Given the description of an element on the screen output the (x, y) to click on. 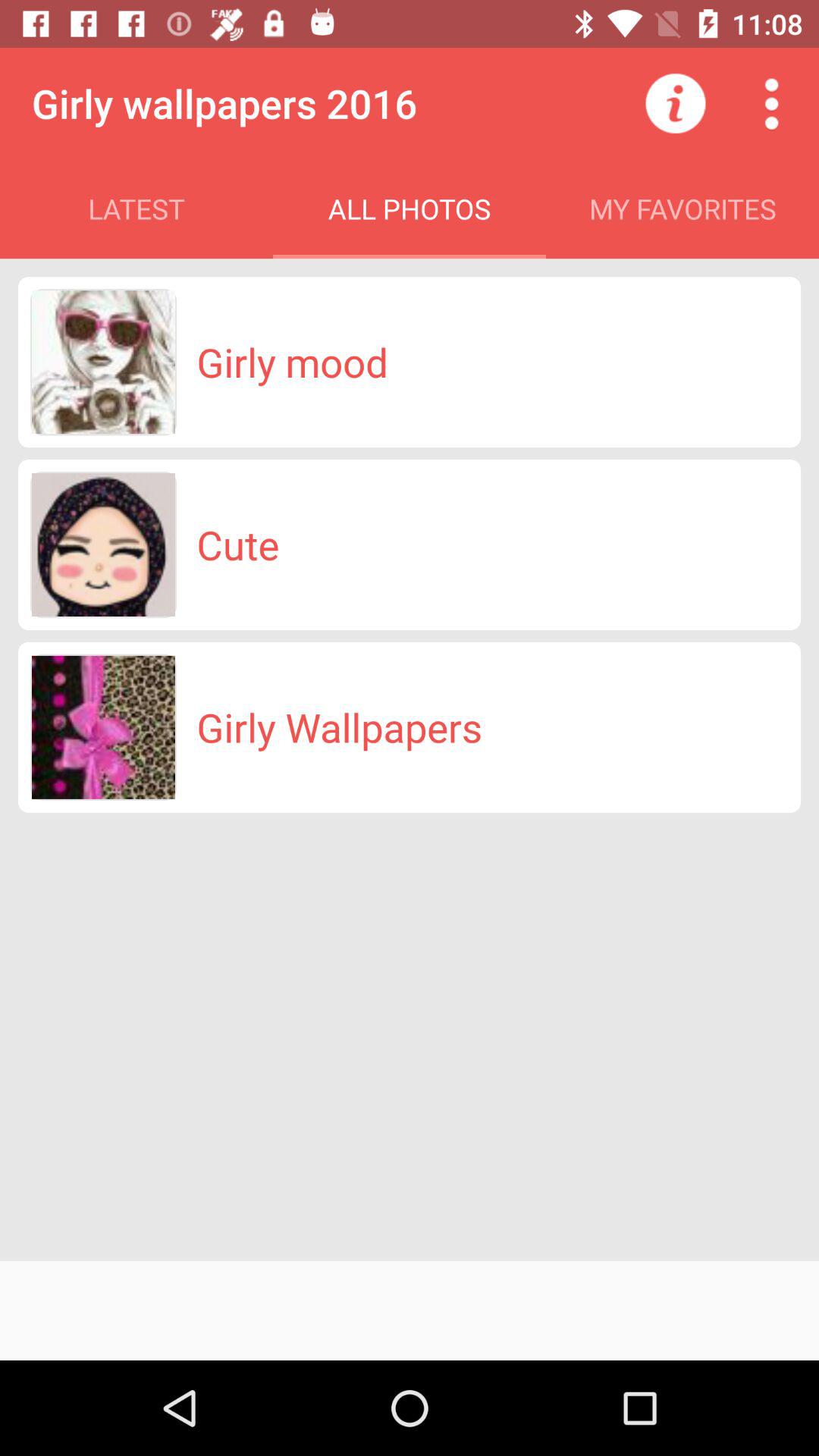
press icon next to the all photos (675, 103)
